Given the description of an element on the screen output the (x, y) to click on. 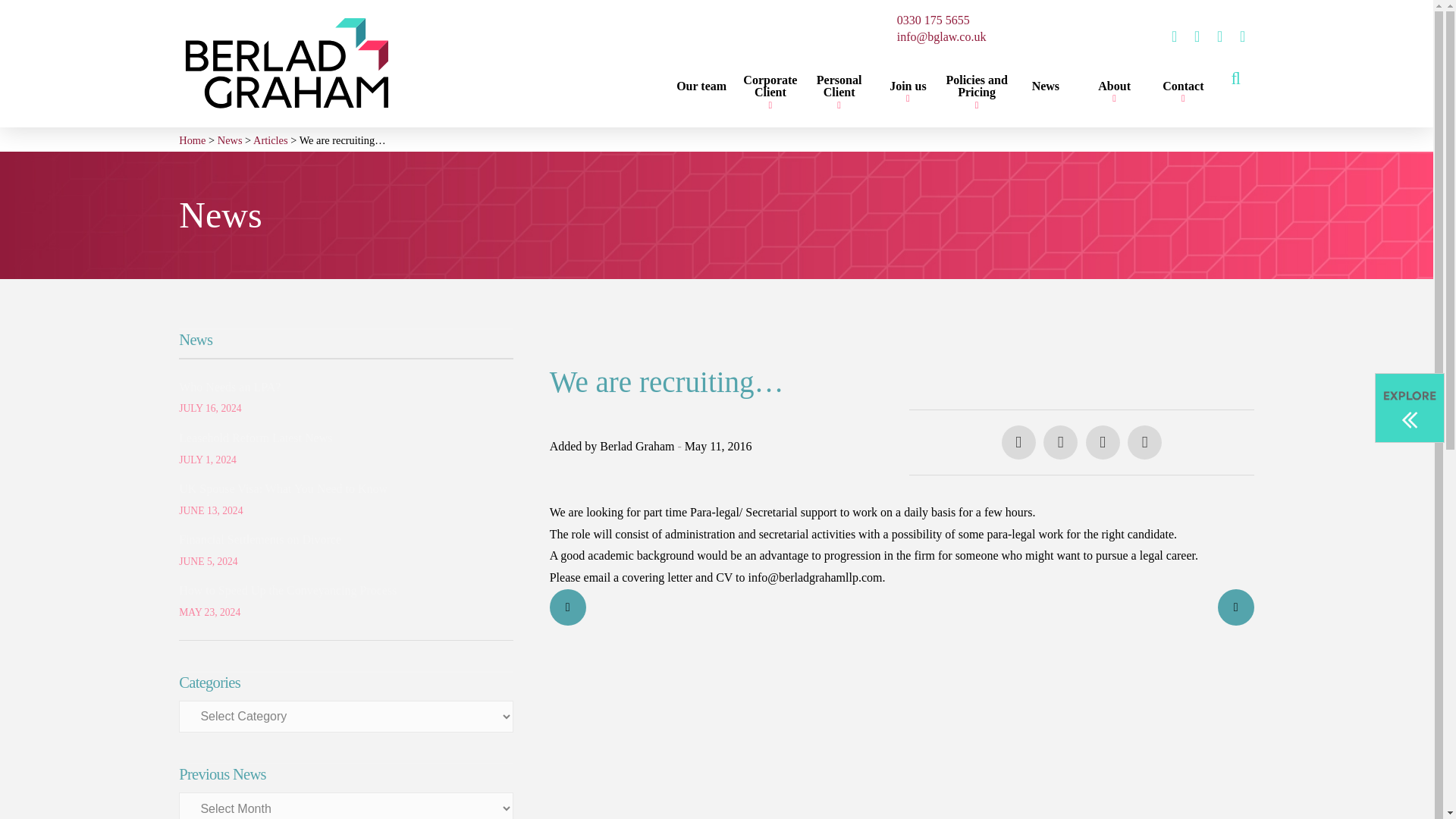
Contact (1182, 88)
Share on Facebook (1018, 442)
Policies and Pricing (976, 87)
Share on LinkedIn (1102, 442)
Share via Email (1143, 442)
News (1045, 88)
0330 175 5655 (932, 19)
Personal Client (839, 87)
About (1114, 88)
Join us (907, 88)
